Given the description of an element on the screen output the (x, y) to click on. 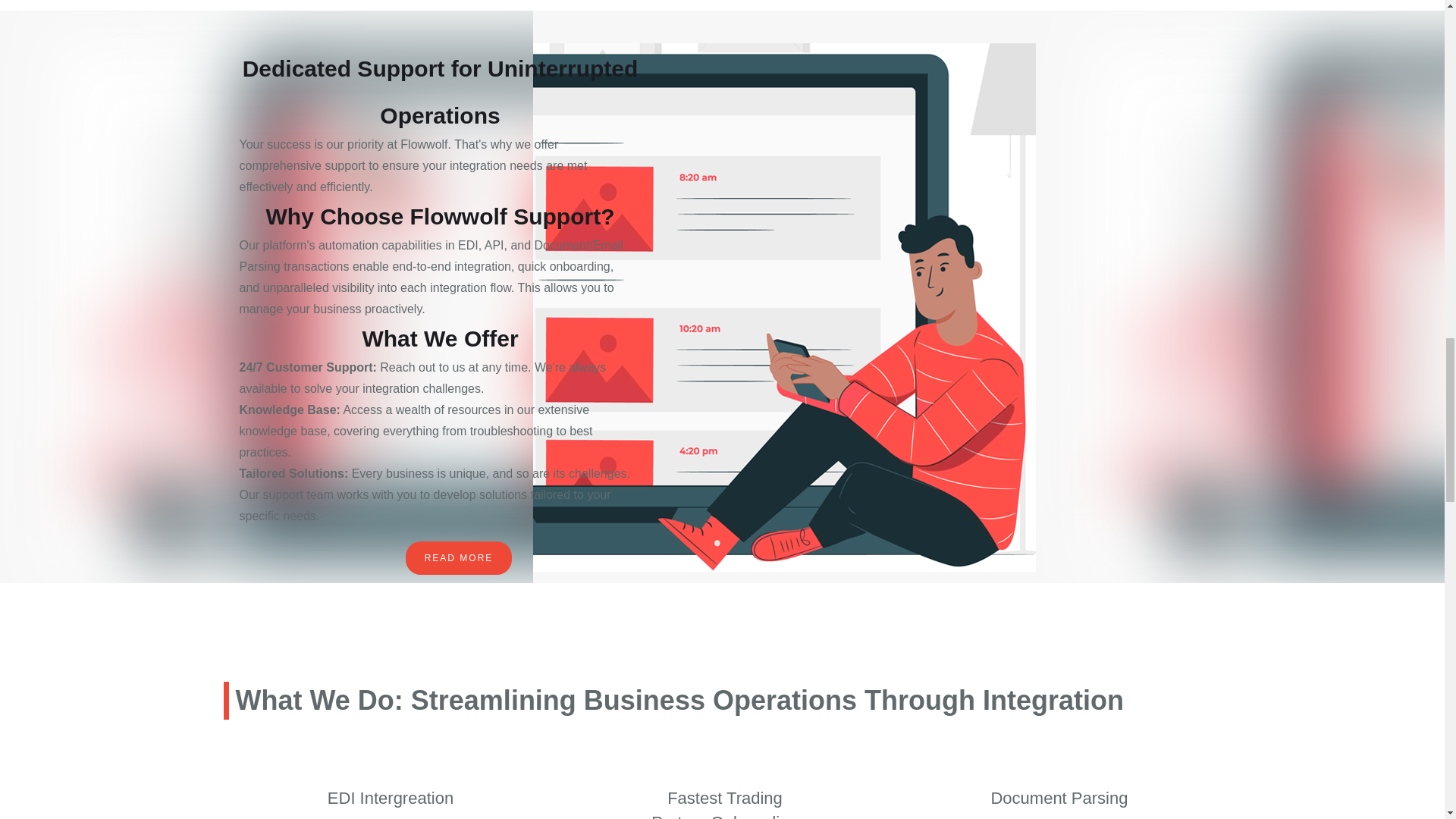
READ MORE (459, 557)
